Given the description of an element on the screen output the (x, y) to click on. 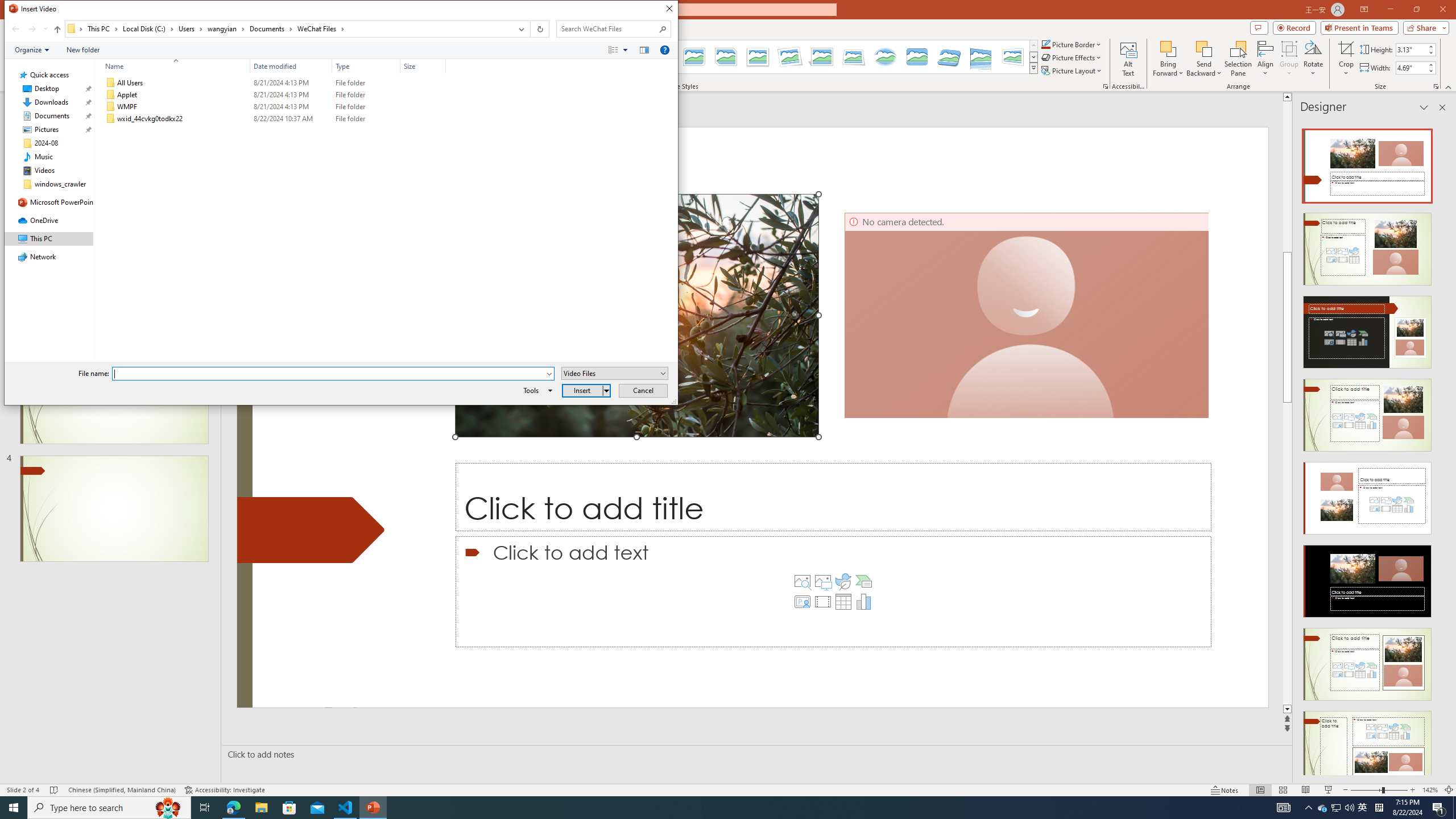
Address band toolbar (529, 28)
View Slider (625, 49)
This PC (102, 28)
Zoom 142% (1430, 790)
Class: NetUIScrollBar (1441, 447)
Date modified (290, 119)
WMPF (273, 106)
Send Backward (1204, 58)
